Given the description of an element on the screen output the (x, y) to click on. 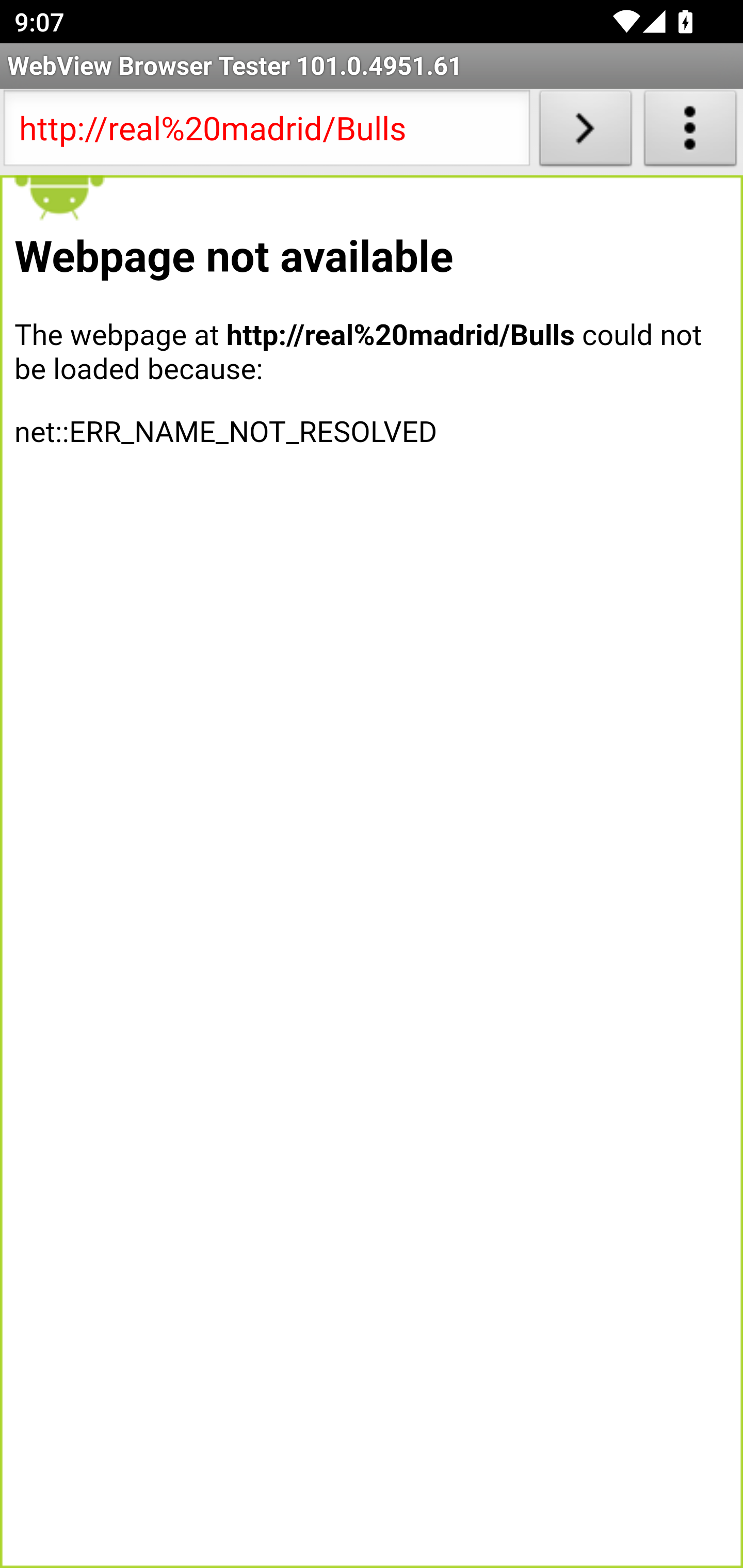
http://real%20madrid/Bulls (266, 132)
Load URL (585, 132)
About WebView (690, 132)
